Given the description of an element on the screen output the (x, y) to click on. 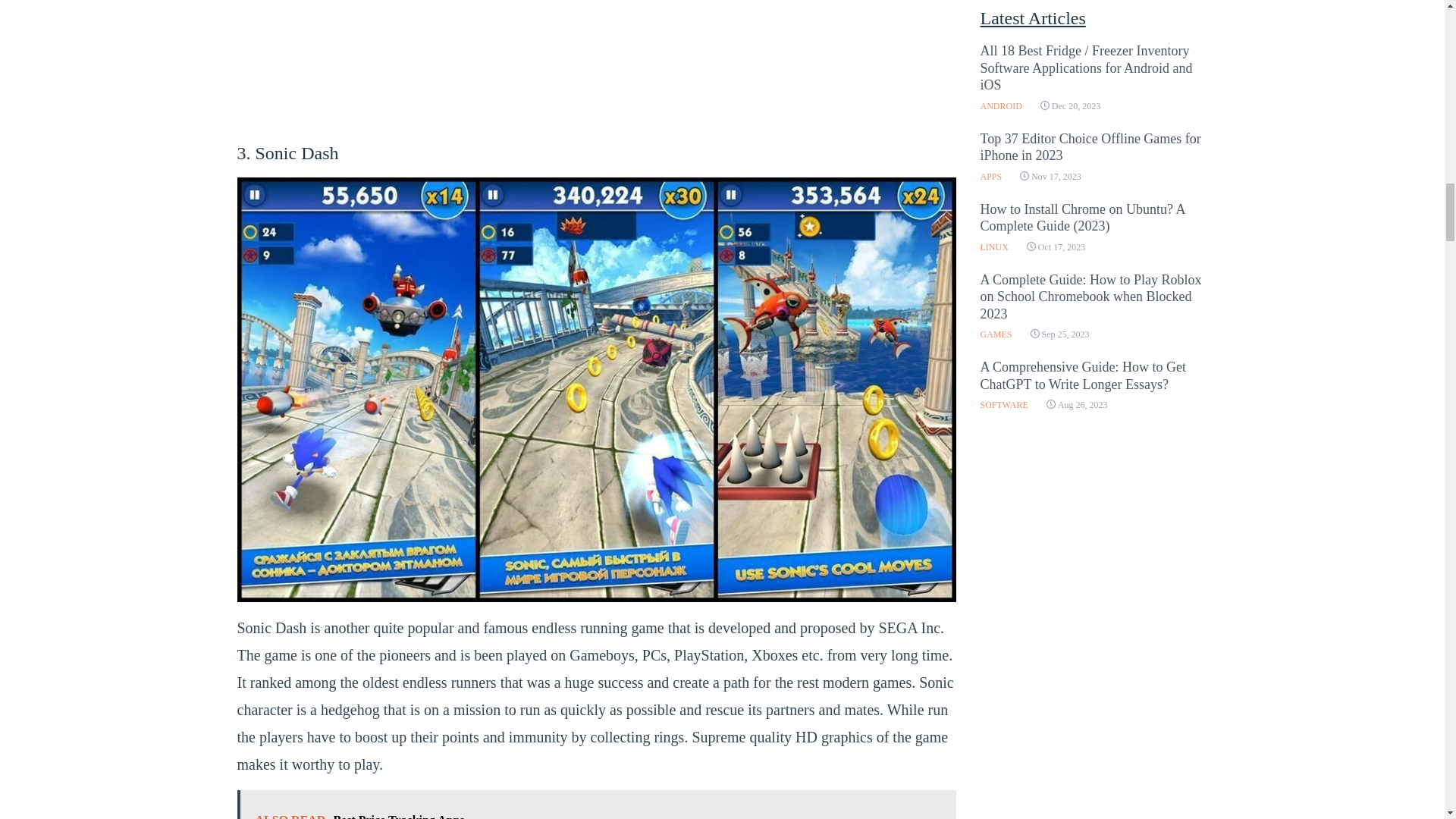
ALSO READ  Best Price Tracking Apps (595, 804)
Advertisement (595, 66)
